Given the description of an element on the screen output the (x, y) to click on. 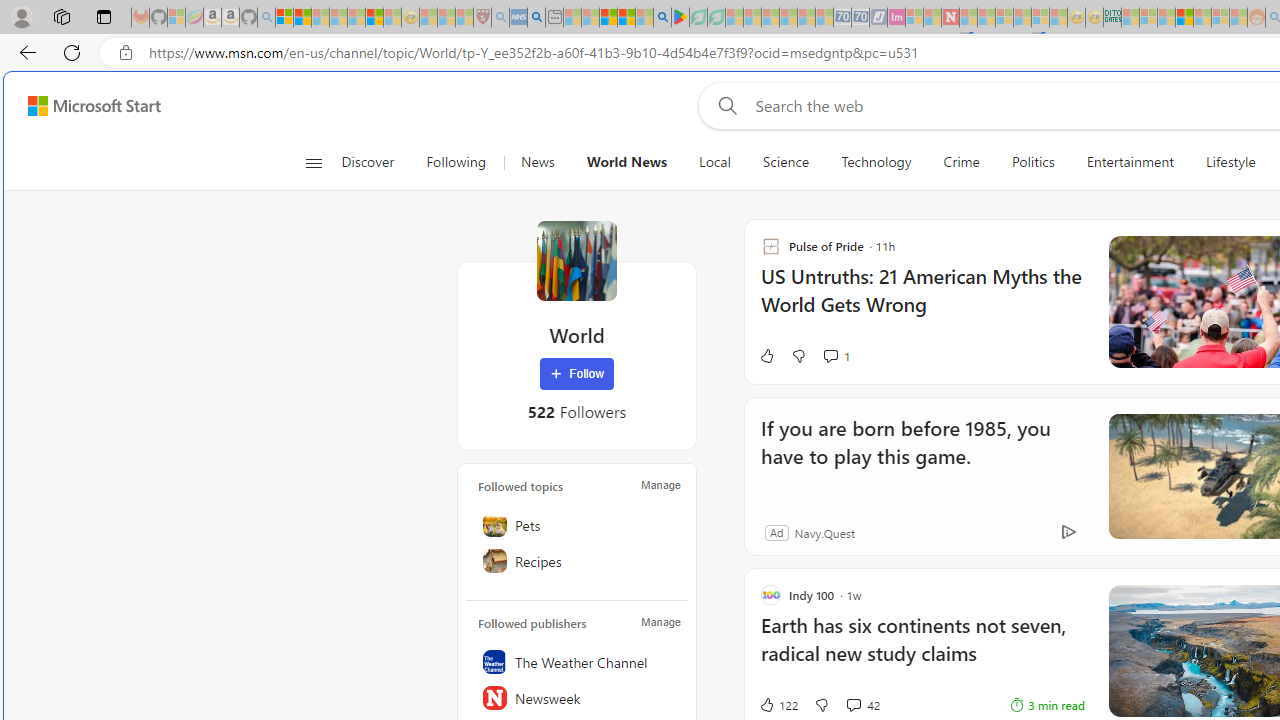
US Untruths: 21 American Myths the World Gets Wrong (922, 300)
World (576, 260)
Bluey: Let's Play! - Apps on Google Play (680, 17)
